Given the description of an element on the screen output the (x, y) to click on. 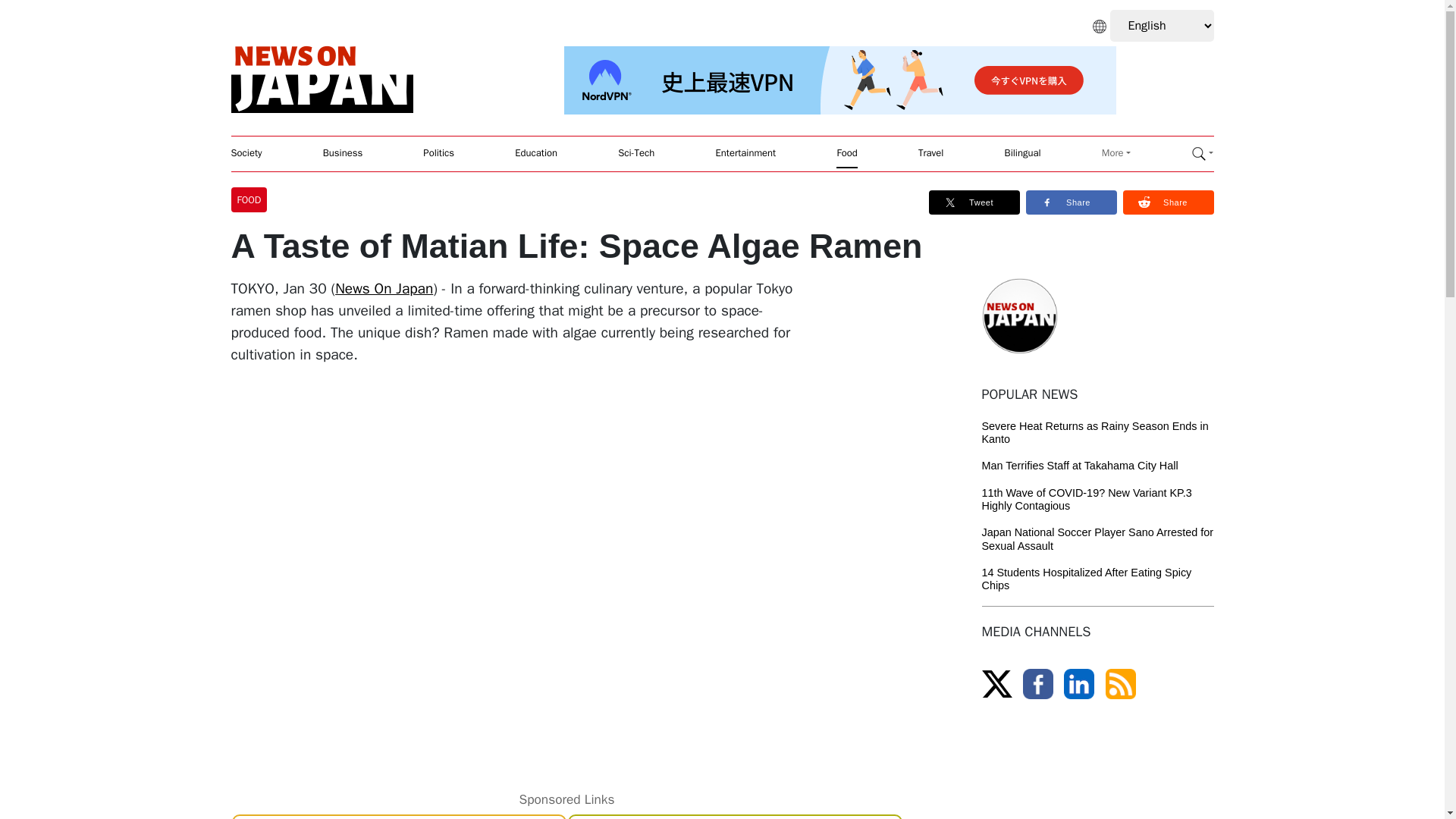
Travel (930, 153)
FOOD (252, 198)
Society (246, 153)
More (1116, 153)
Education (536, 153)
Sci-Tech (635, 153)
Bilingual (1022, 153)
Entertainment (746, 153)
Business (342, 153)
Politics (438, 153)
